Given the description of an element on the screen output the (x, y) to click on. 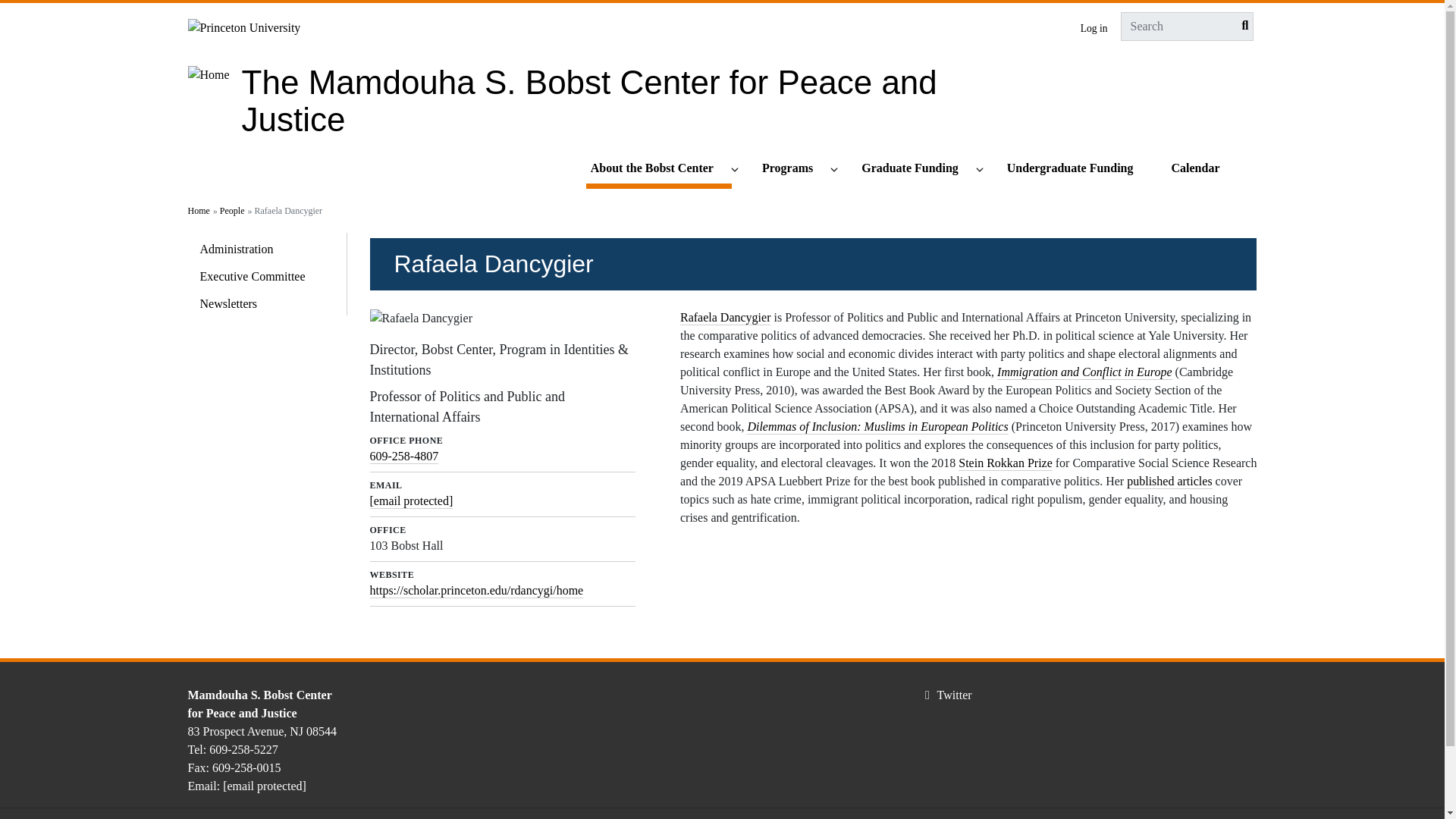
Home (589, 100)
Administration (266, 246)
Submit (1240, 25)
Programs (794, 169)
Calendar (1201, 169)
Home (198, 210)
About the Bobst Center (659, 169)
Submit (1240, 25)
Undergraduate Funding (1077, 169)
Rafaela Dancygier (724, 318)
Immigration and Conflict in Europe (1084, 372)
Twitter (946, 694)
Executive Committee (266, 273)
Graduate Funding (916, 169)
People (231, 210)
